Given the description of an element on the screen output the (x, y) to click on. 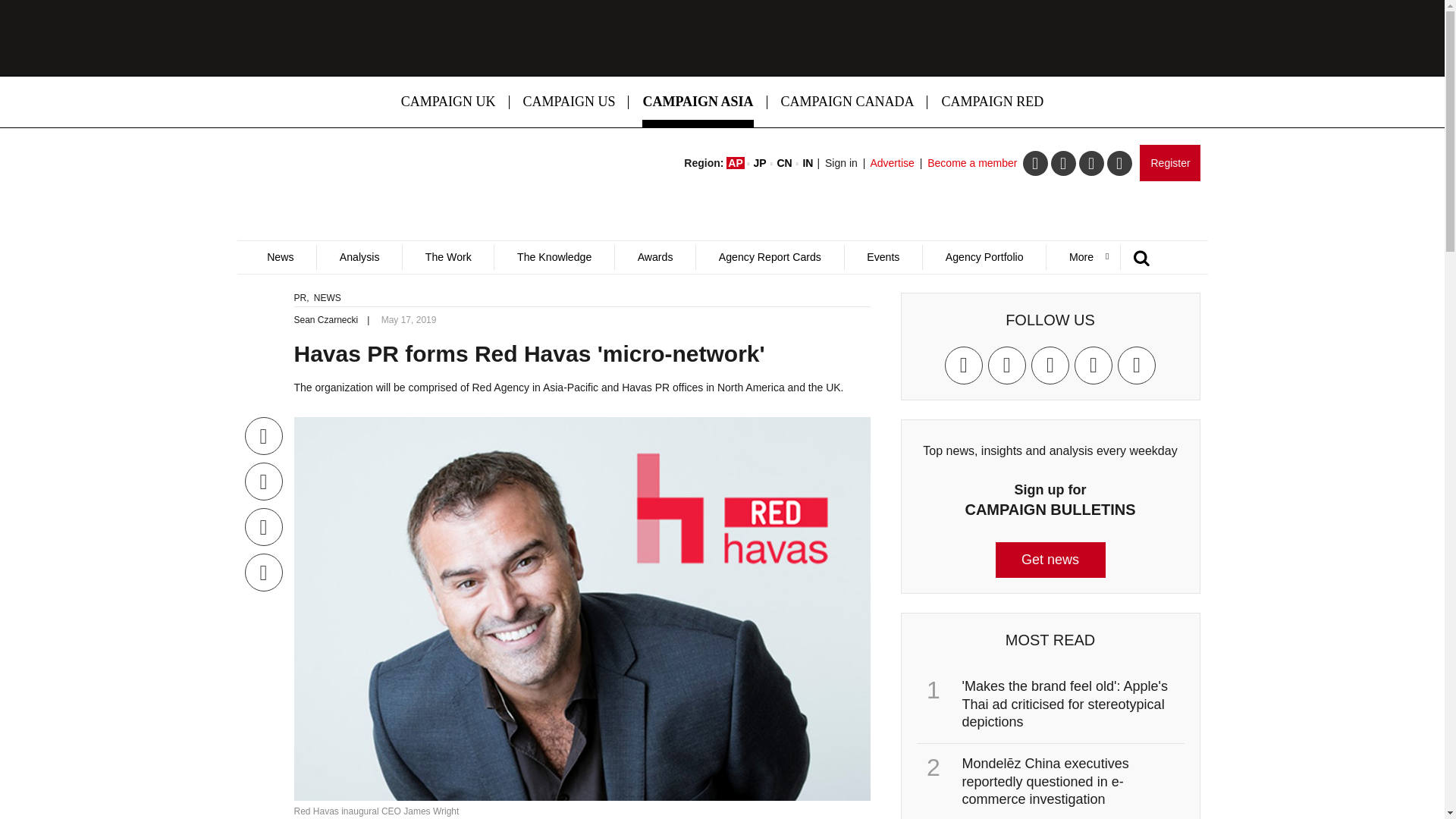
Register (1168, 162)
Analysis (358, 257)
Agency Portfolio (983, 257)
AP (735, 162)
The Knowledge (553, 257)
News (279, 257)
IN (806, 162)
More (1082, 257)
More (1082, 257)
CAMPAIGN RED (992, 101)
